Given the description of an element on the screen output the (x, y) to click on. 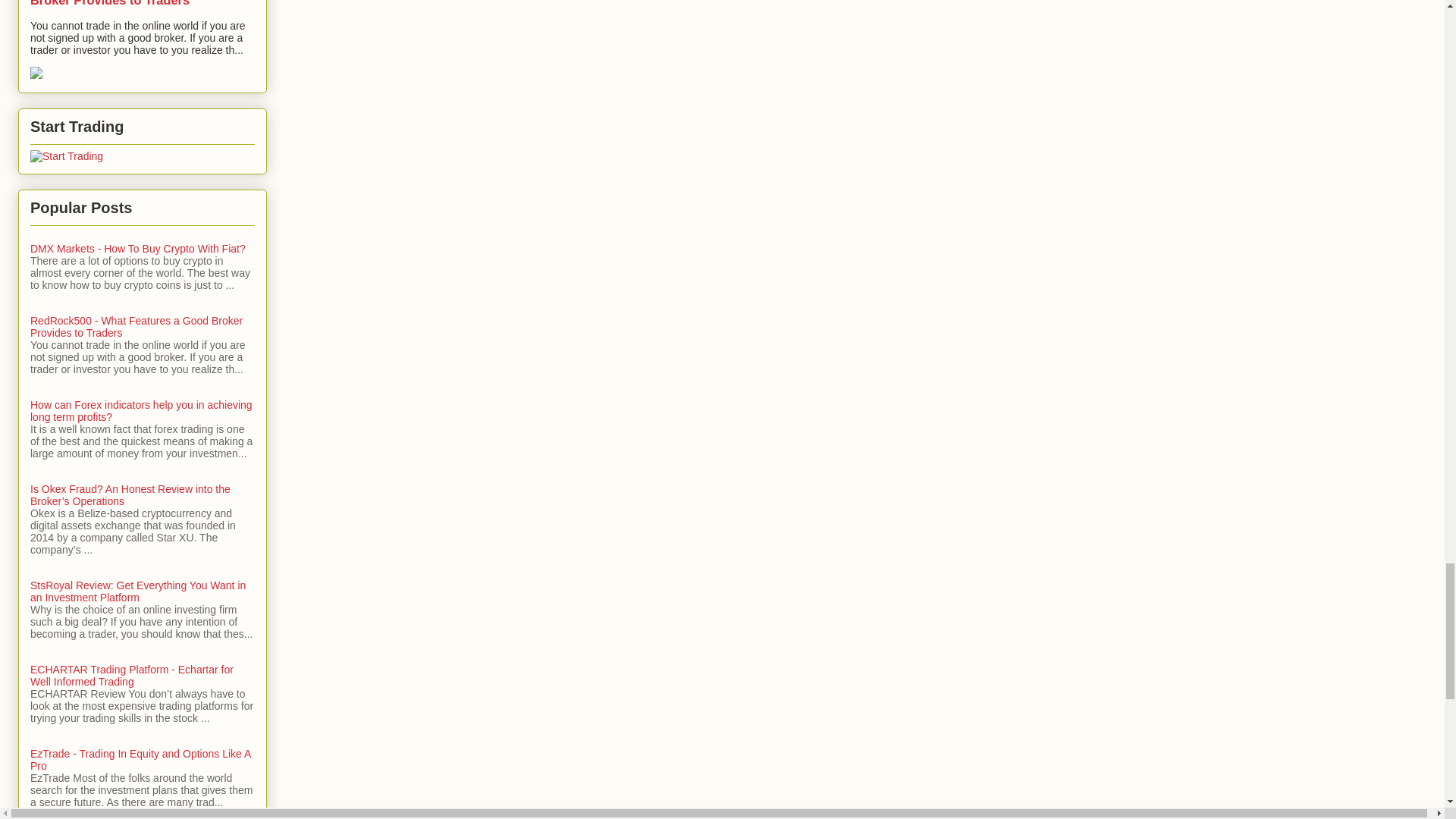
DMX Markets - How To Buy Crypto With Fiat? (138, 248)
RedRock500 - What Features a Good Broker Provides to Traders (136, 326)
RedRock500 - What Features a Good Broker Provides to Traders (138, 3)
EzTrade - Trading In Equity and Options Like A Pro (140, 759)
